Given the description of an element on the screen output the (x, y) to click on. 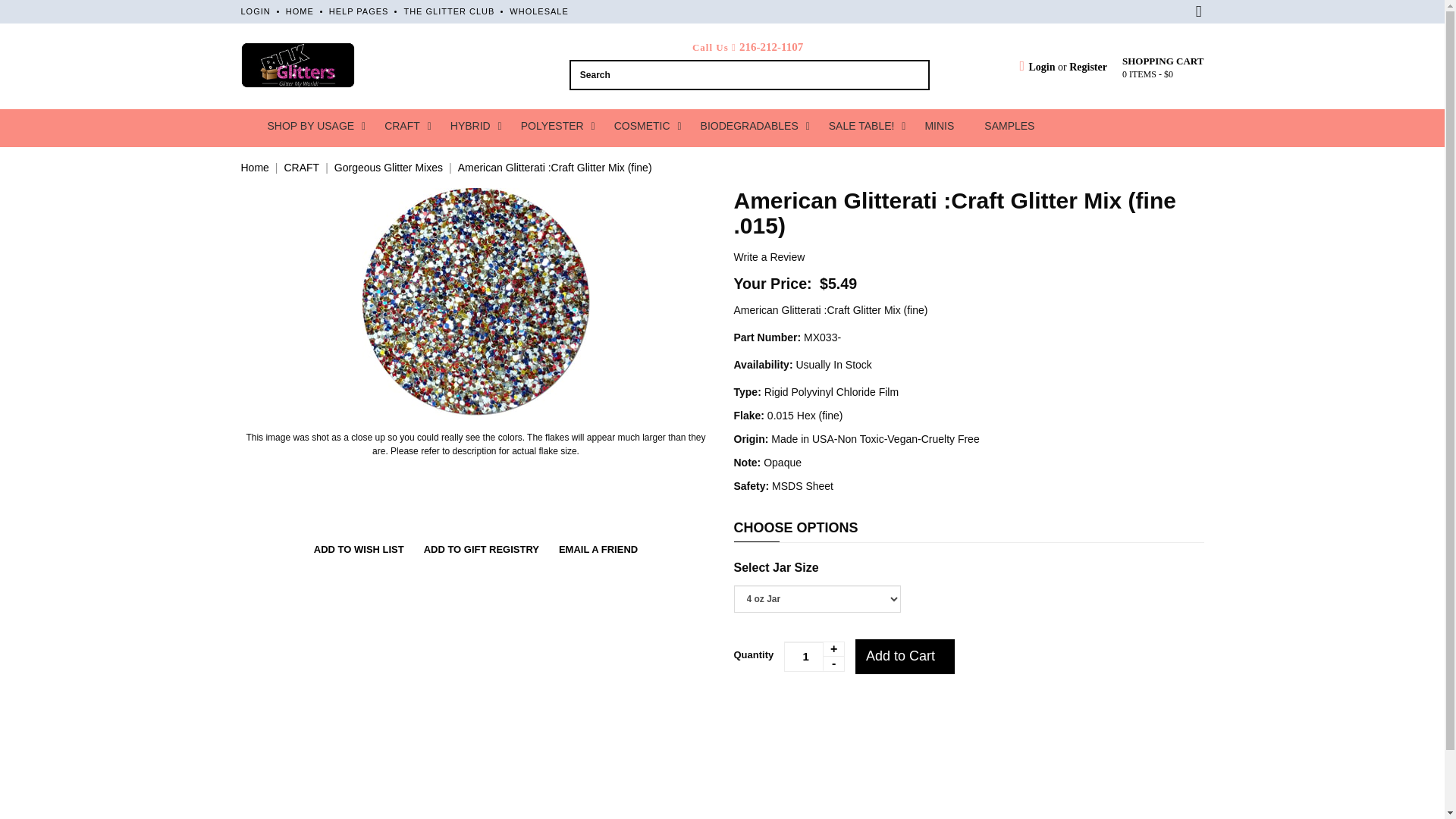
Login (1036, 67)
THE GLITTER CLUB (449, 11)
HELP PAGES (358, 11)
HOME (299, 11)
LOGIN (255, 11)
1 (814, 656)
Register (1087, 67)
216-212-1107 (771, 46)
